Given the description of an element on the screen output the (x, y) to click on. 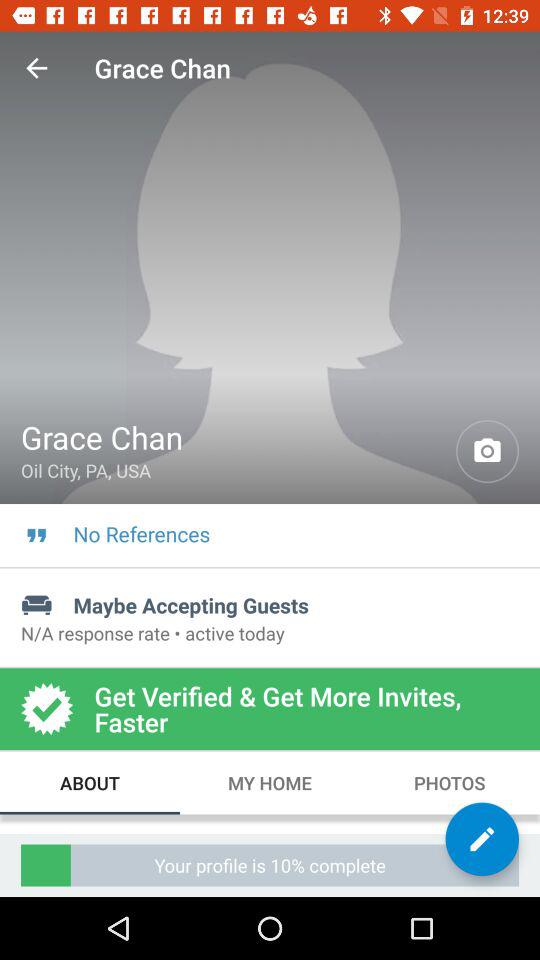
go back (36, 68)
